Given the description of an element on the screen output the (x, y) to click on. 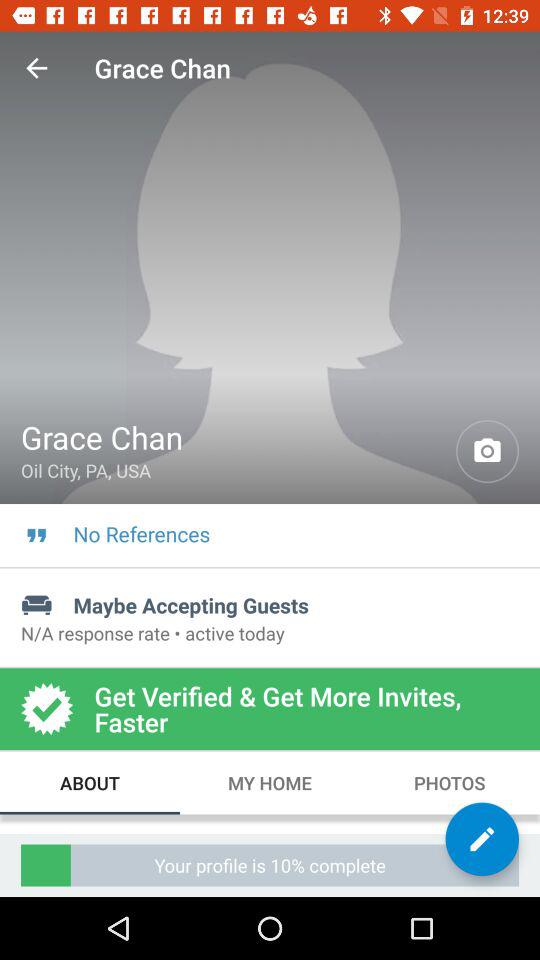
go back (36, 68)
